Given the description of an element on the screen output the (x, y) to click on. 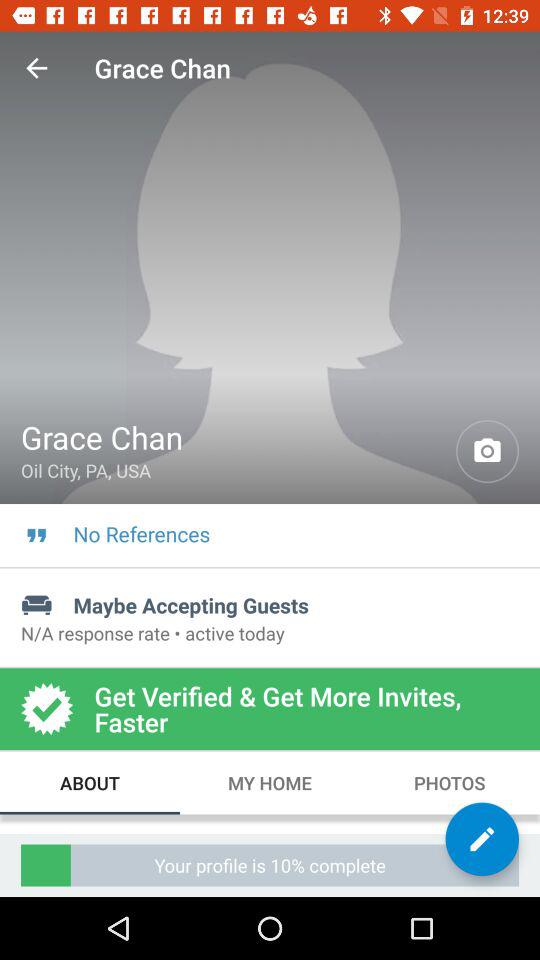
go back (36, 68)
